Given the description of an element on the screen output the (x, y) to click on. 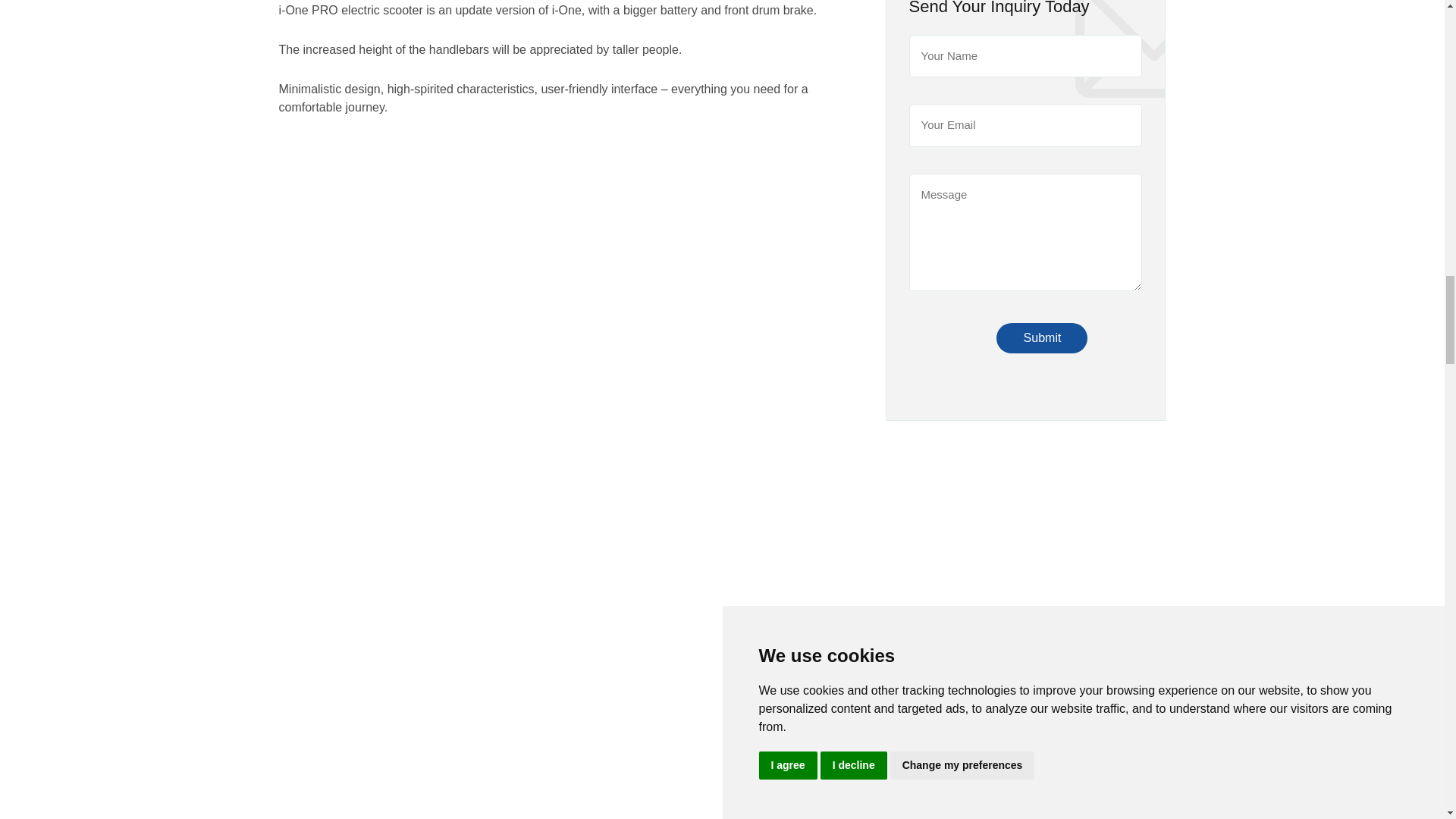
Submit (1041, 337)
